Given the description of an element on the screen output the (x, y) to click on. 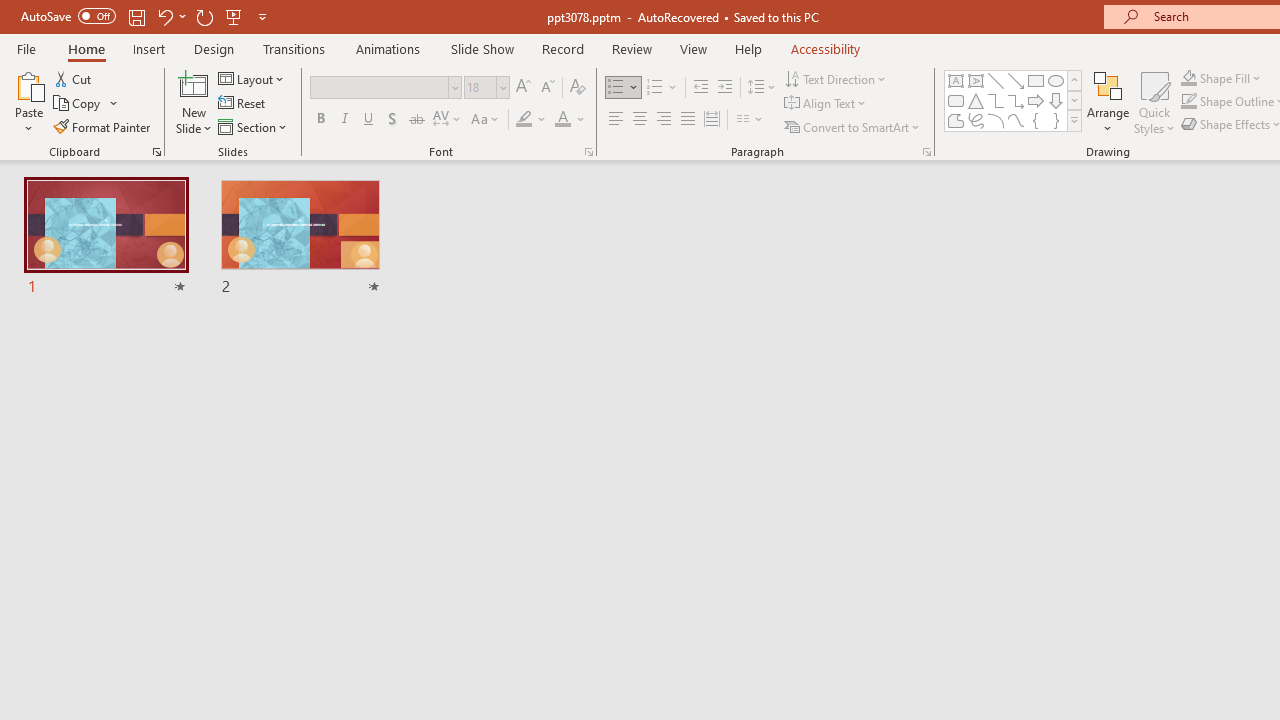
Shape Fill Dark Green, Accent 2 (1188, 78)
Shape Outline Green, Accent 1 (1188, 101)
